Given the description of an element on the screen output the (x, y) to click on. 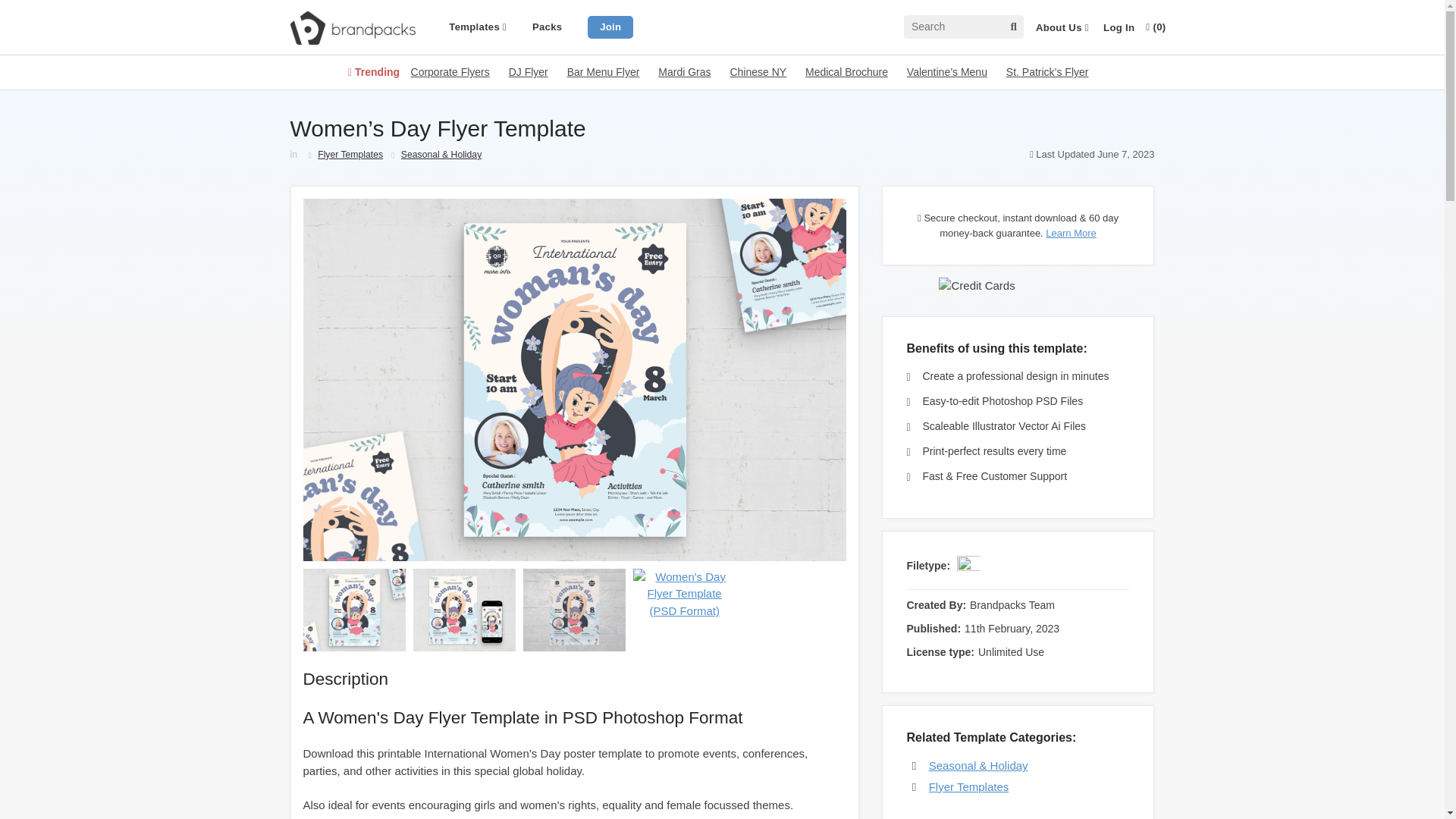
Join (610, 26)
Packs (547, 27)
Templates (478, 27)
Corporate Flyer Templates (449, 71)
Cocktail Menu Template (757, 71)
About Us (1062, 27)
Bar Menu Flyer Template (603, 71)
